Given the description of an element on the screen output the (x, y) to click on. 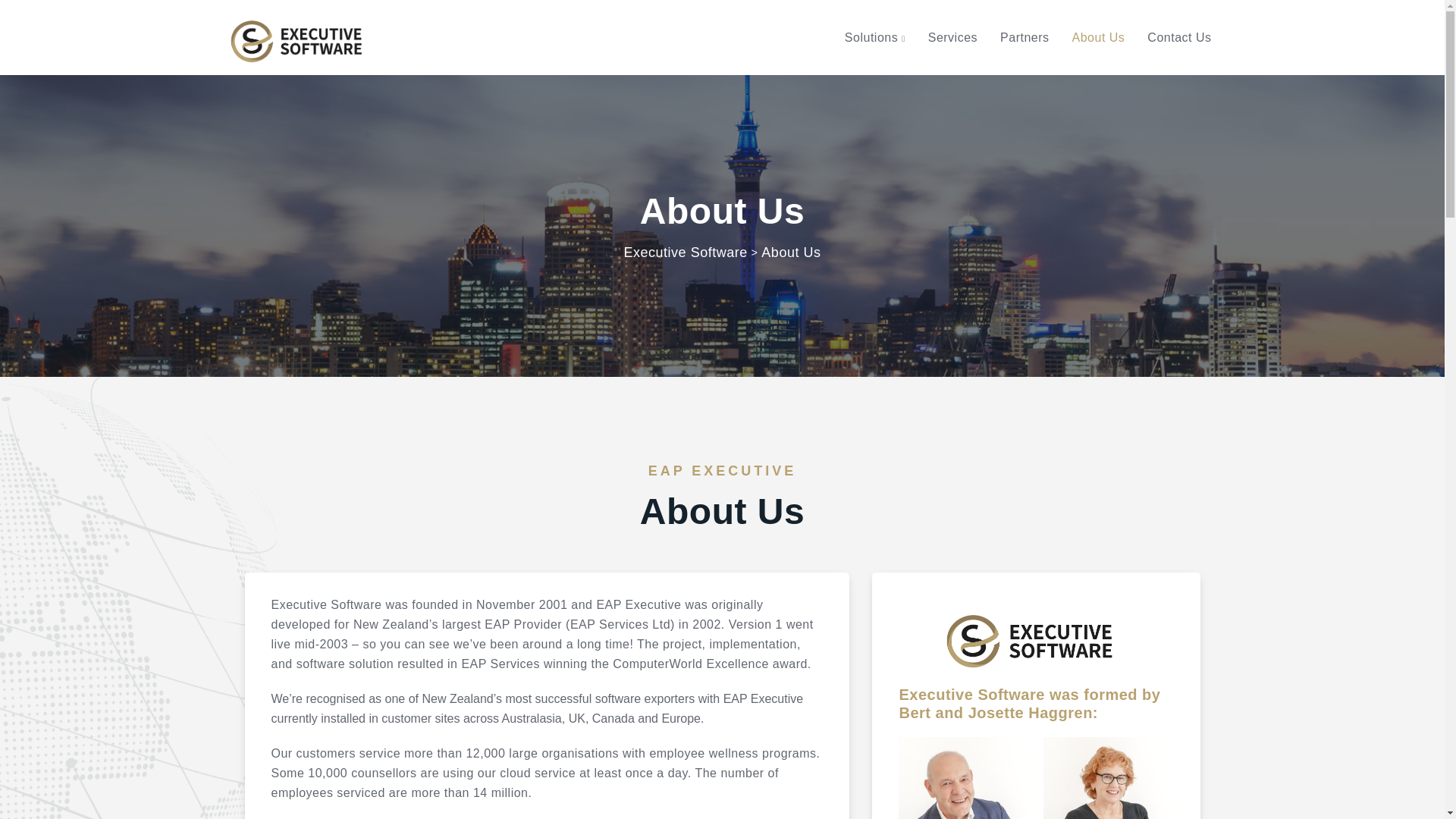
Executive Software (686, 251)
